Given the description of an element on the screen output the (x, y) to click on. 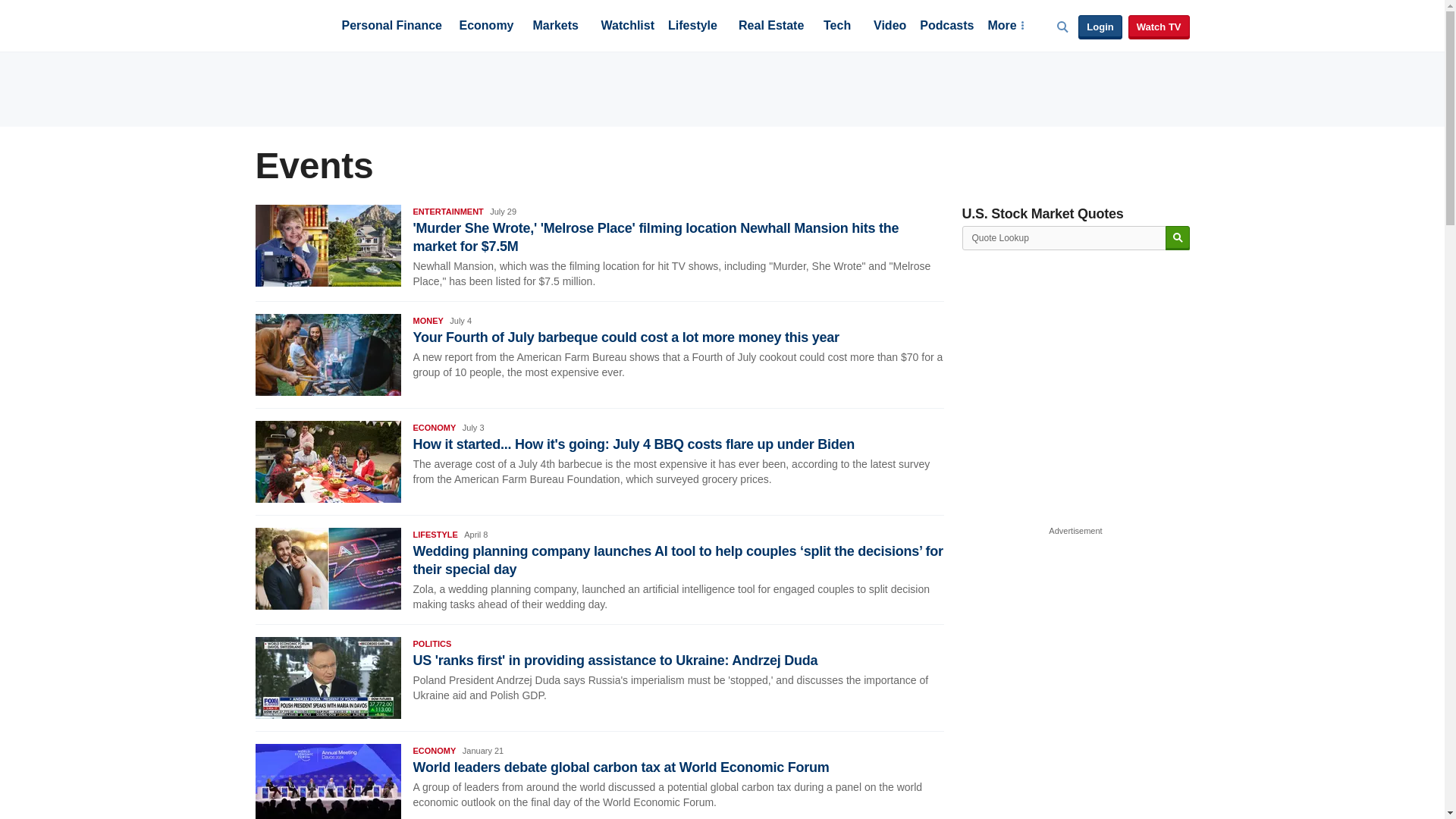
Fox Business (290, 24)
Search (1176, 238)
Markets (555, 27)
Watch TV (1158, 27)
Lifestyle (692, 27)
Search (1176, 238)
Real Estate (770, 27)
Watchlist (626, 27)
Tech (837, 27)
Personal Finance (391, 27)
